Given the description of an element on the screen output the (x, y) to click on. 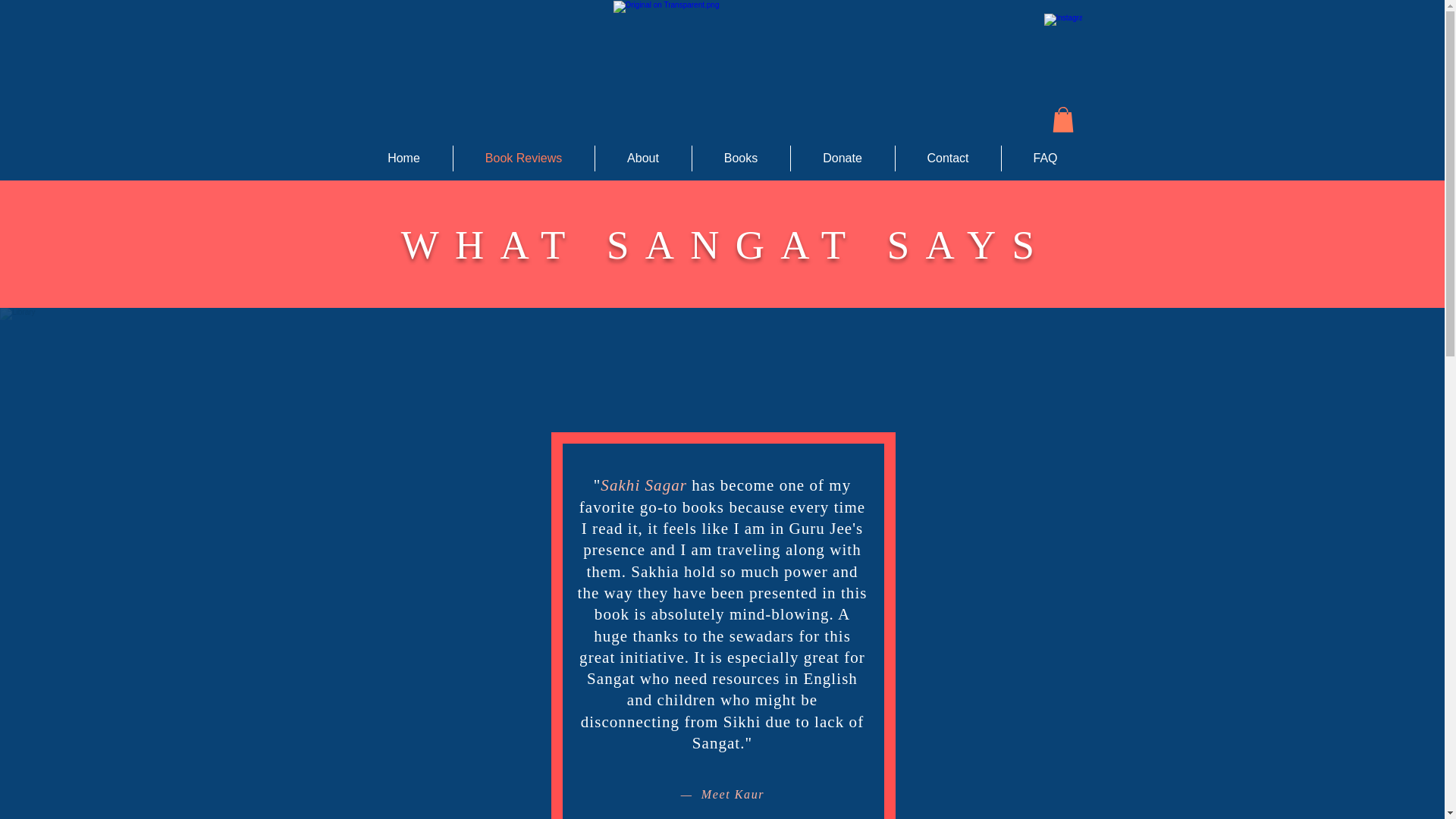
FAQ (1045, 158)
Home (403, 158)
Book Reviews (522, 158)
Contact (948, 158)
Donate (842, 158)
About (642, 158)
